Given the description of an element on the screen output the (x, y) to click on. 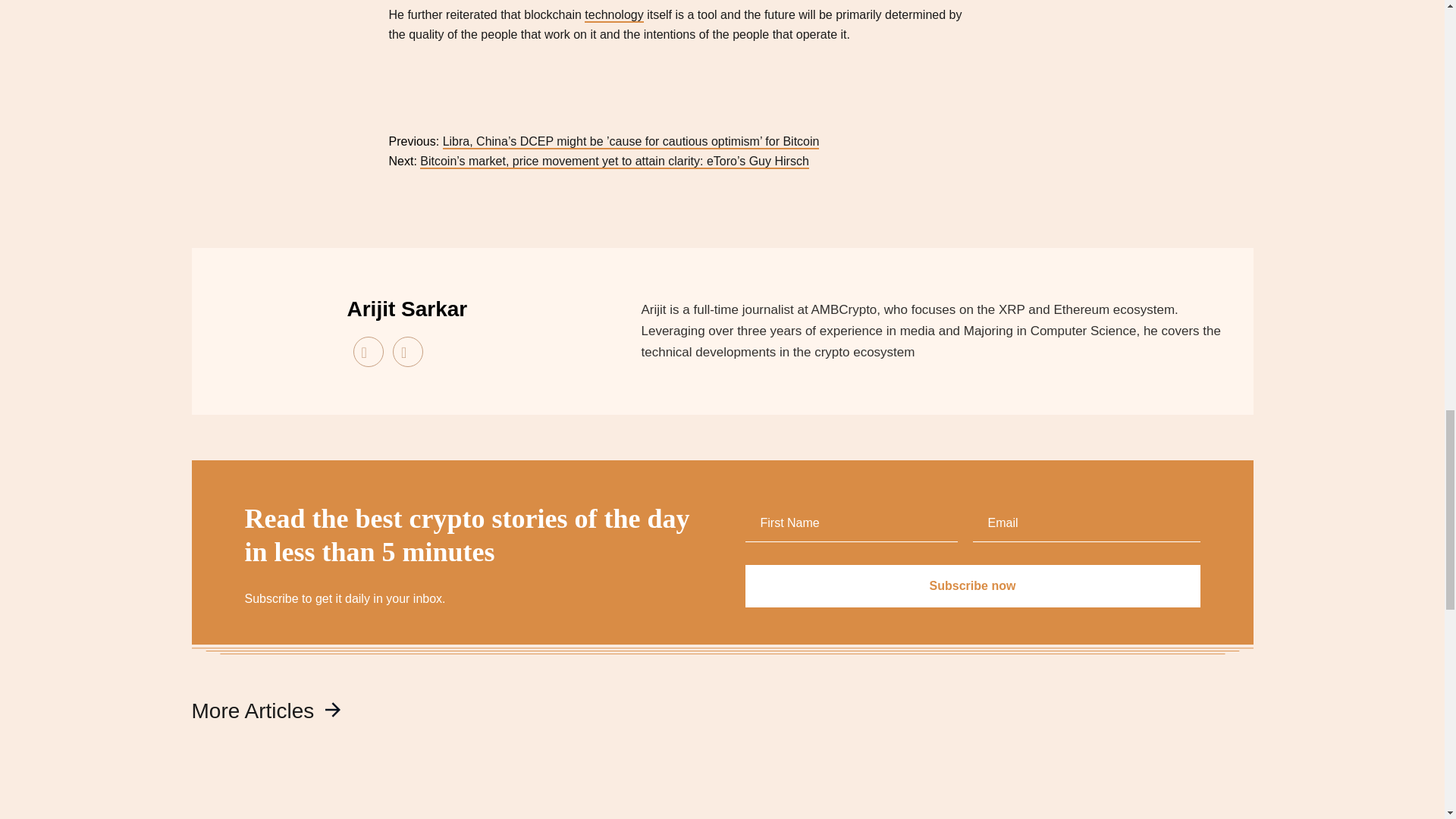
Subscribe now (971, 586)
Posts by Arijit Sarkar (407, 309)
